Given the description of an element on the screen output the (x, y) to click on. 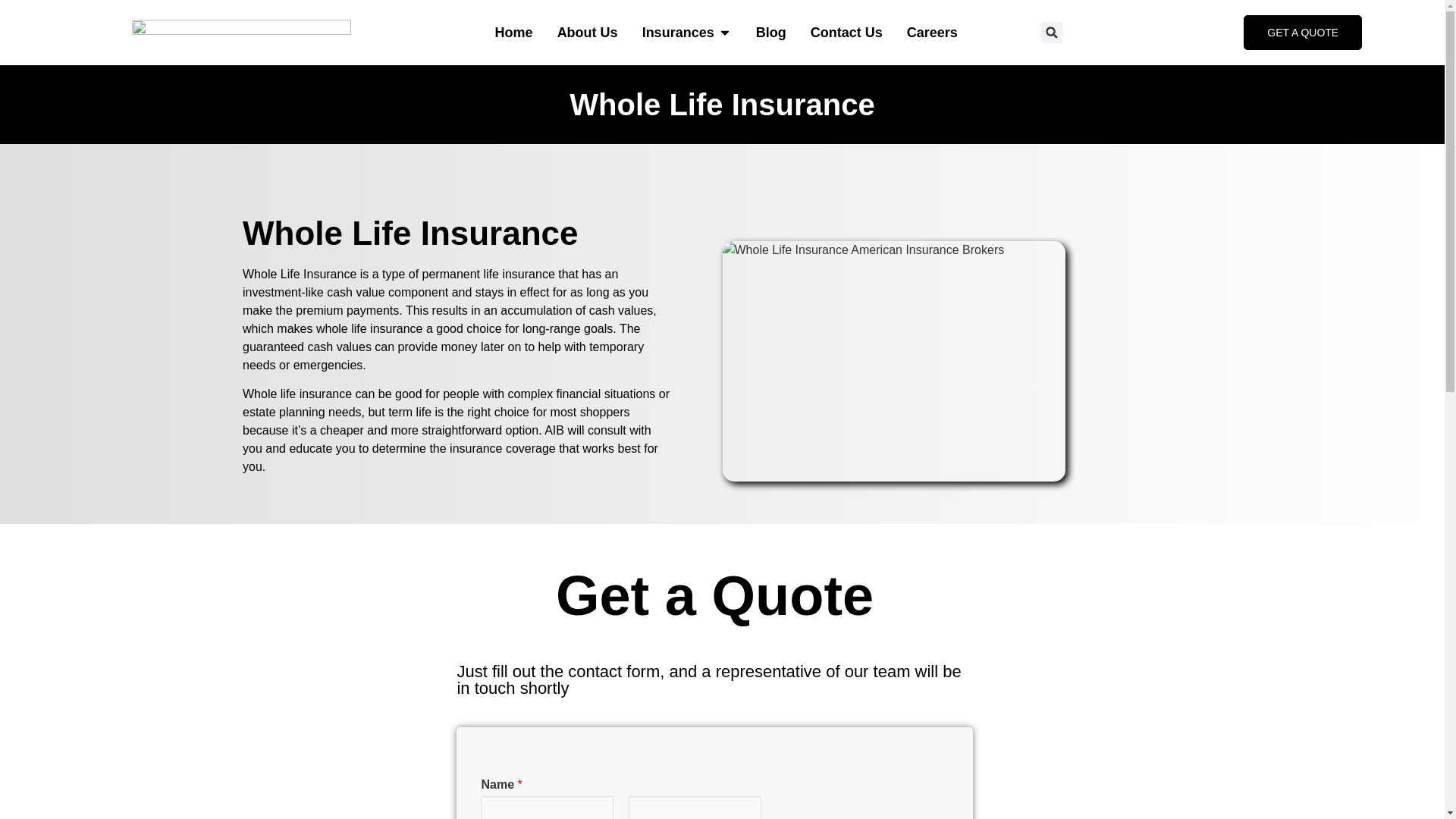
Contact Us (846, 32)
Careers (932, 32)
About Us (587, 32)
Blog (770, 32)
GET A QUOTE (1302, 32)
Home (513, 32)
